Given the description of an element on the screen output the (x, y) to click on. 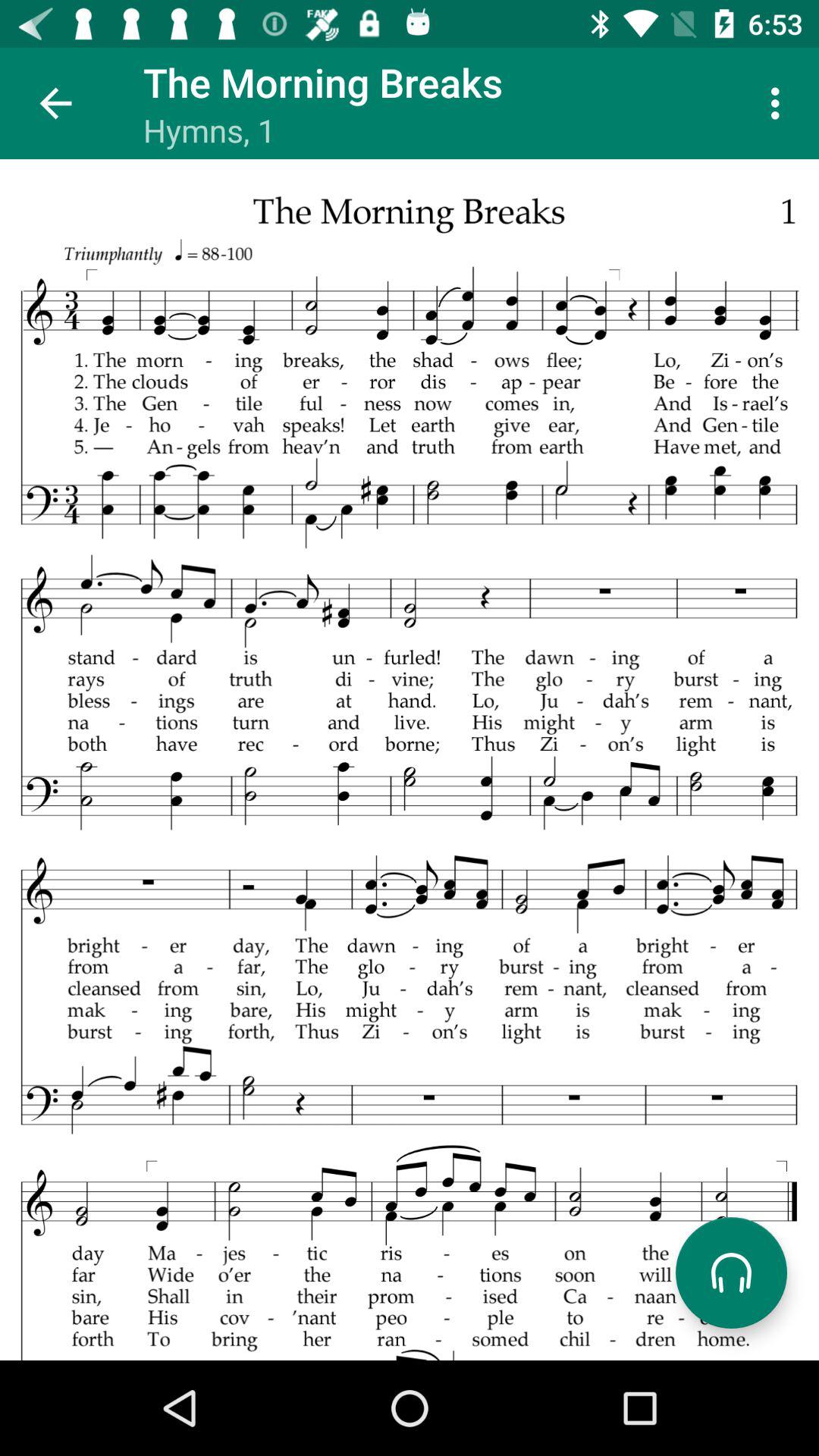
listen (731, 1272)
